Given the description of an element on the screen output the (x, y) to click on. 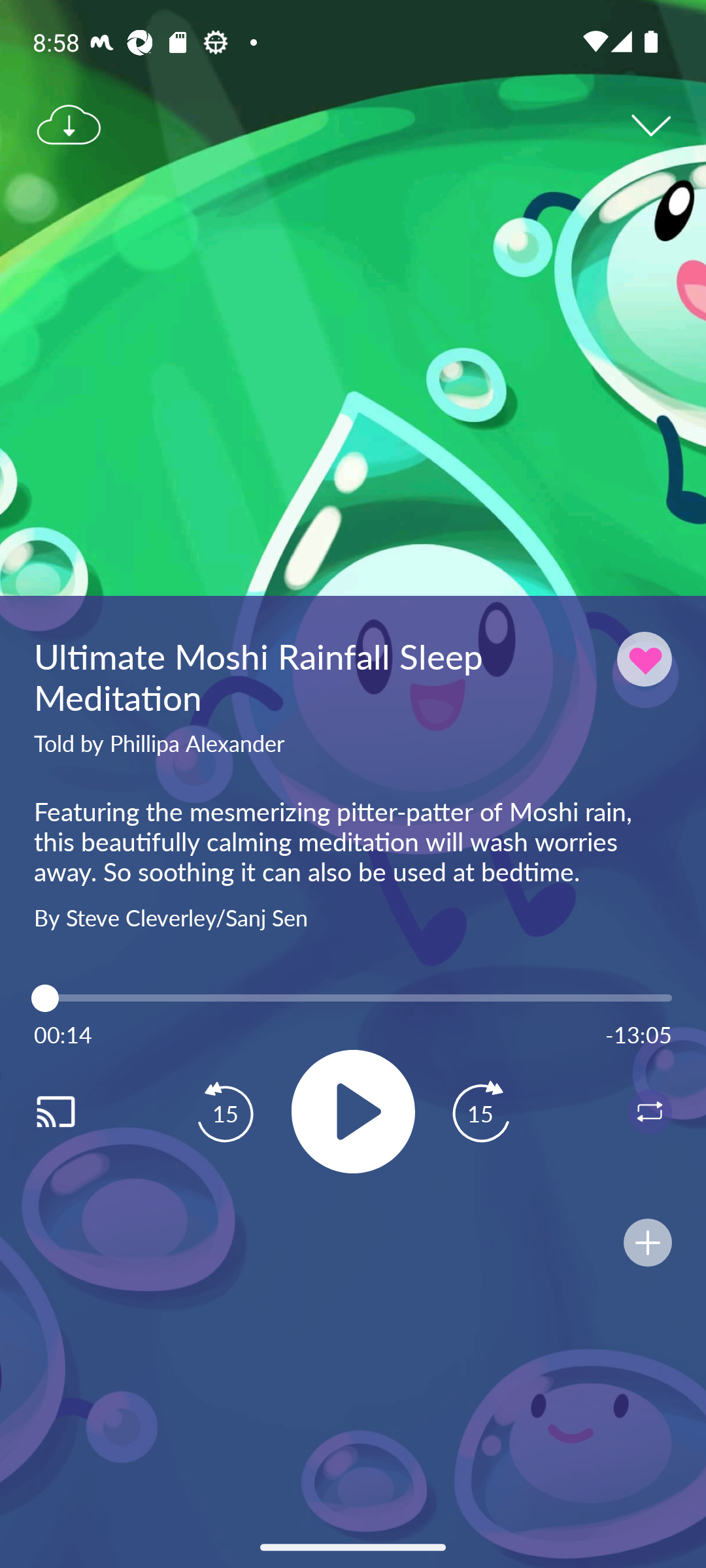
14.0 (352, 997)
Cast. Disconnected (76, 1111)
